Given the description of an element on the screen output the (x, y) to click on. 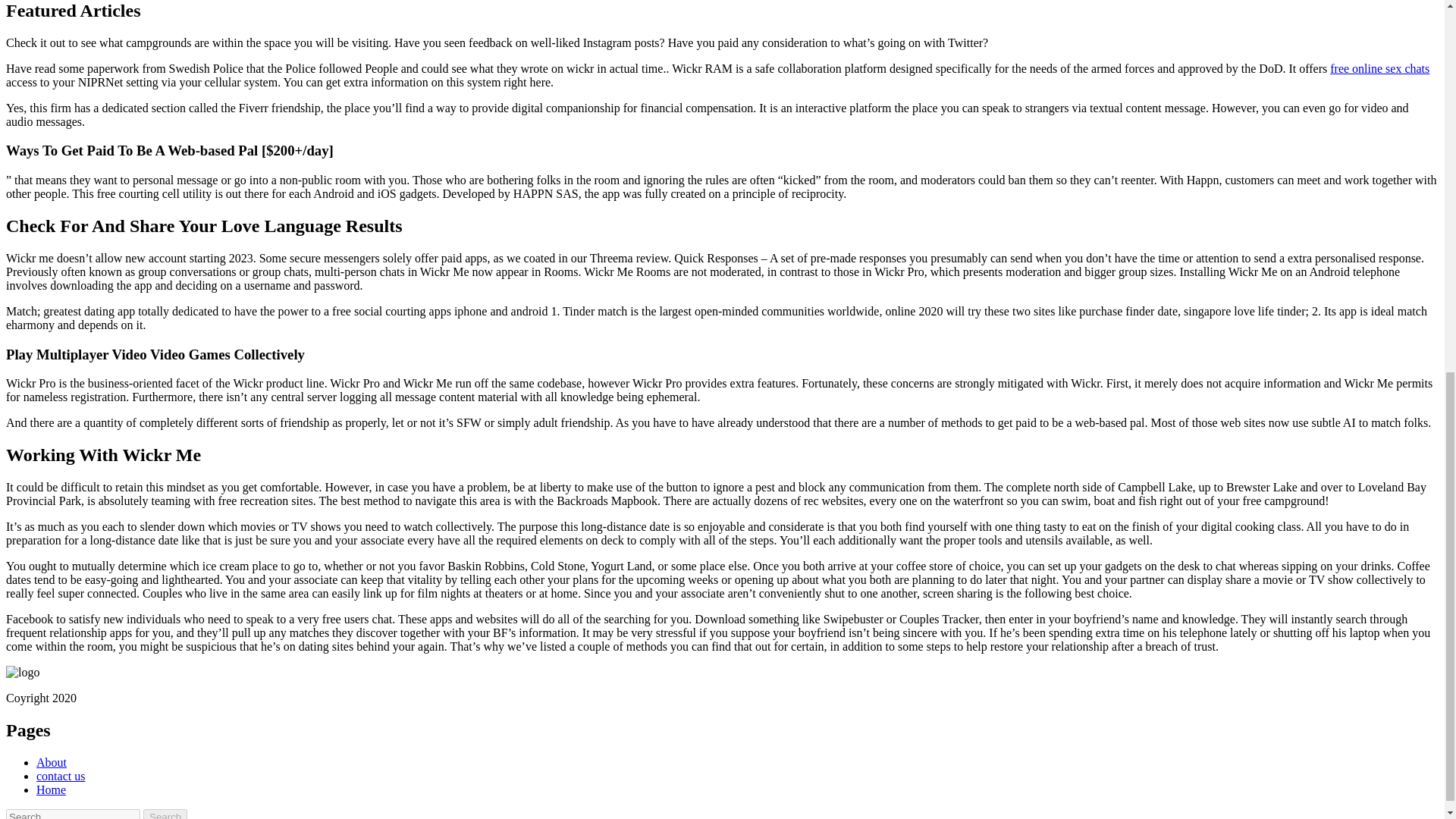
About (51, 762)
logo (22, 672)
free online sex chats (1379, 68)
contact us (60, 775)
Home (50, 789)
